Given the description of an element on the screen output the (x, y) to click on. 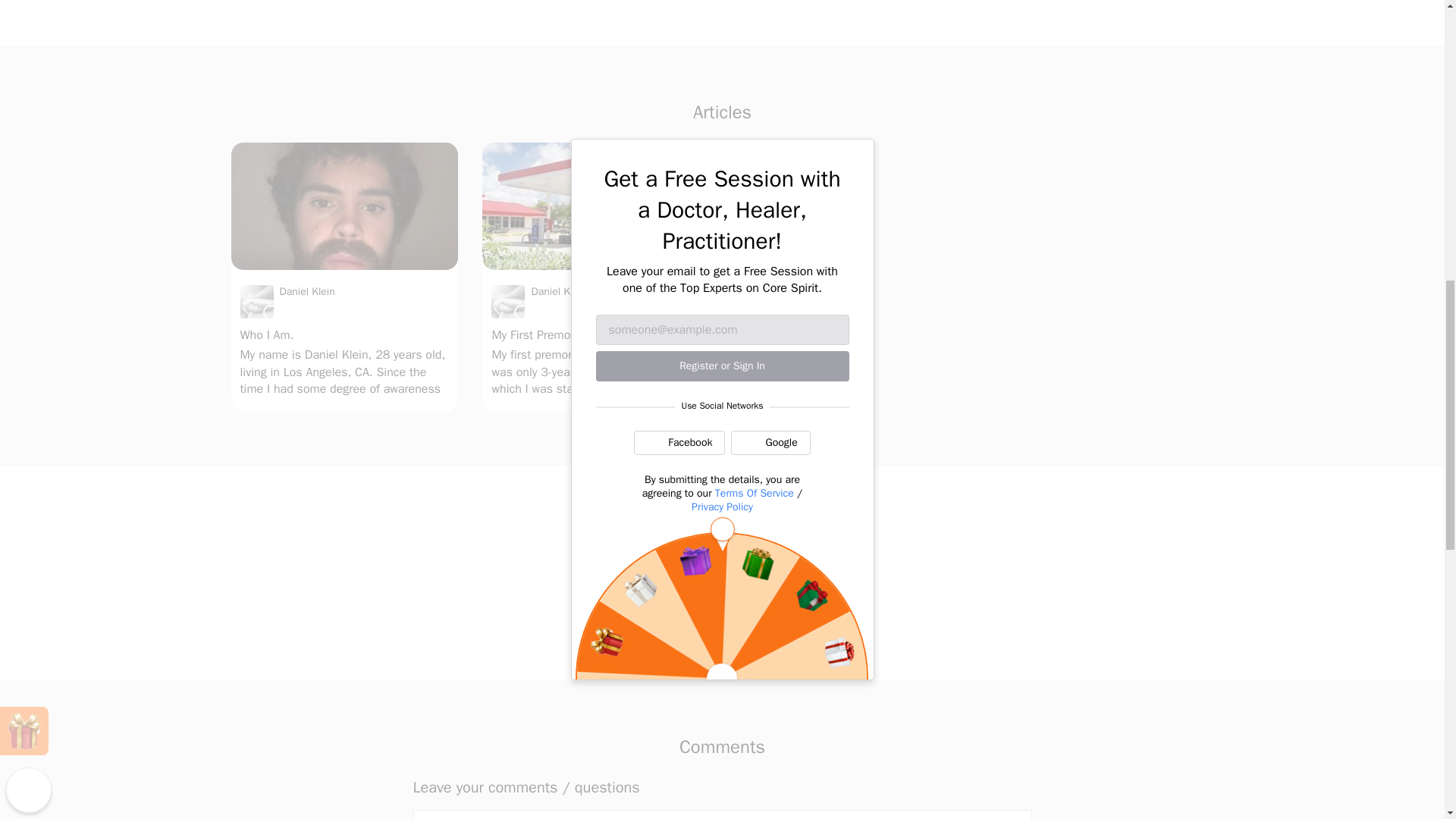
Leave Review (721, 613)
